Given the description of an element on the screen output the (x, y) to click on. 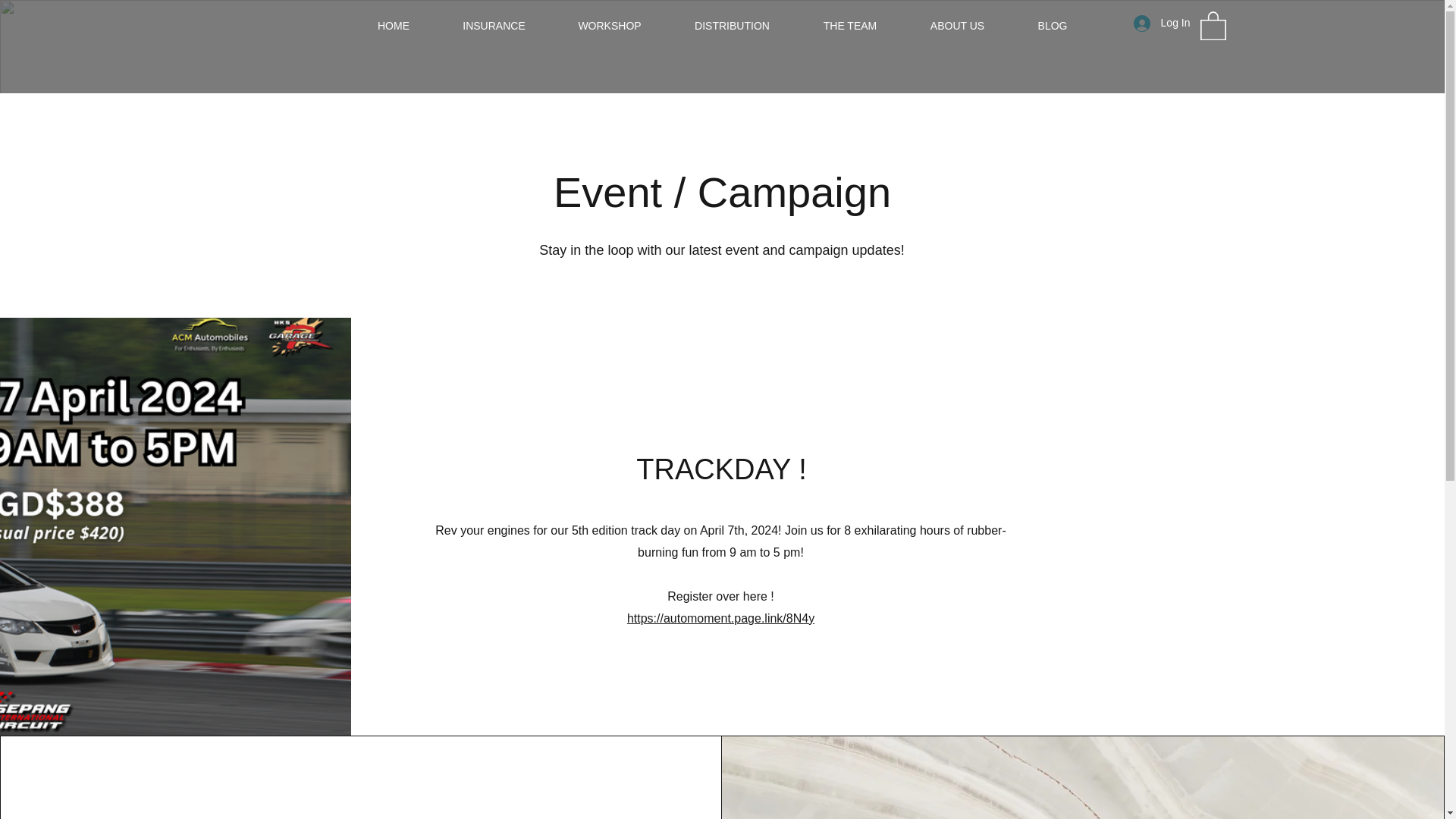
BLOG (1052, 25)
WORKSHOP (609, 25)
INSURANCE (493, 25)
ABOUT US (957, 25)
DISTRIBUTION (731, 25)
HOME (392, 25)
THE TEAM (849, 25)
Log In (1161, 22)
